Given the description of an element on the screen output the (x, y) to click on. 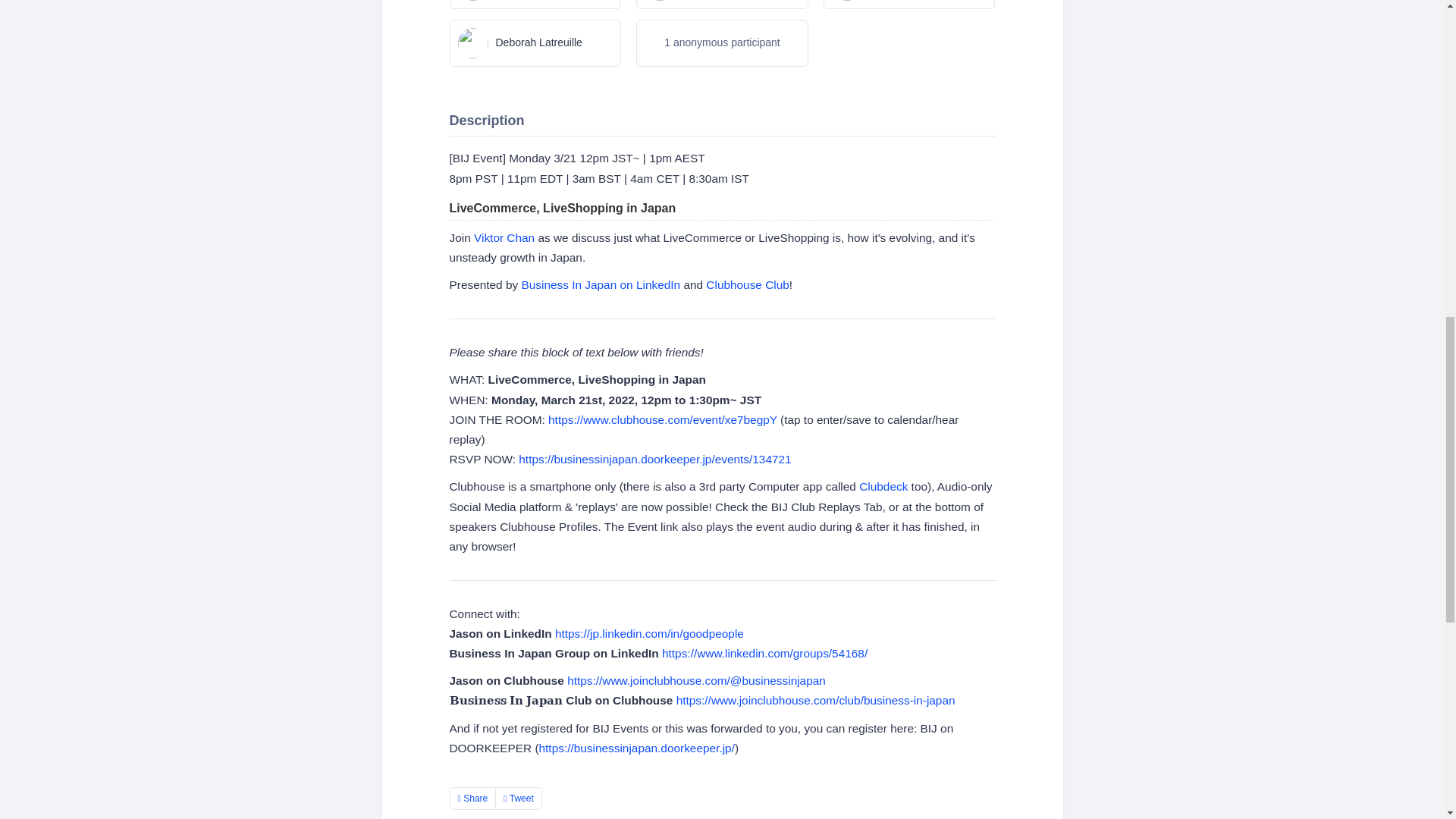
Ugo Bataillard (722, 4)
Clubhouse Club (747, 284)
Deborah Latreuille (534, 42)
Business In Japan on LinkedIn (600, 284)
Clubdeck (883, 486)
Sean (909, 4)
Marc Fuoti (534, 4)
Viktor Chan (504, 237)
